Given the description of an element on the screen output the (x, y) to click on. 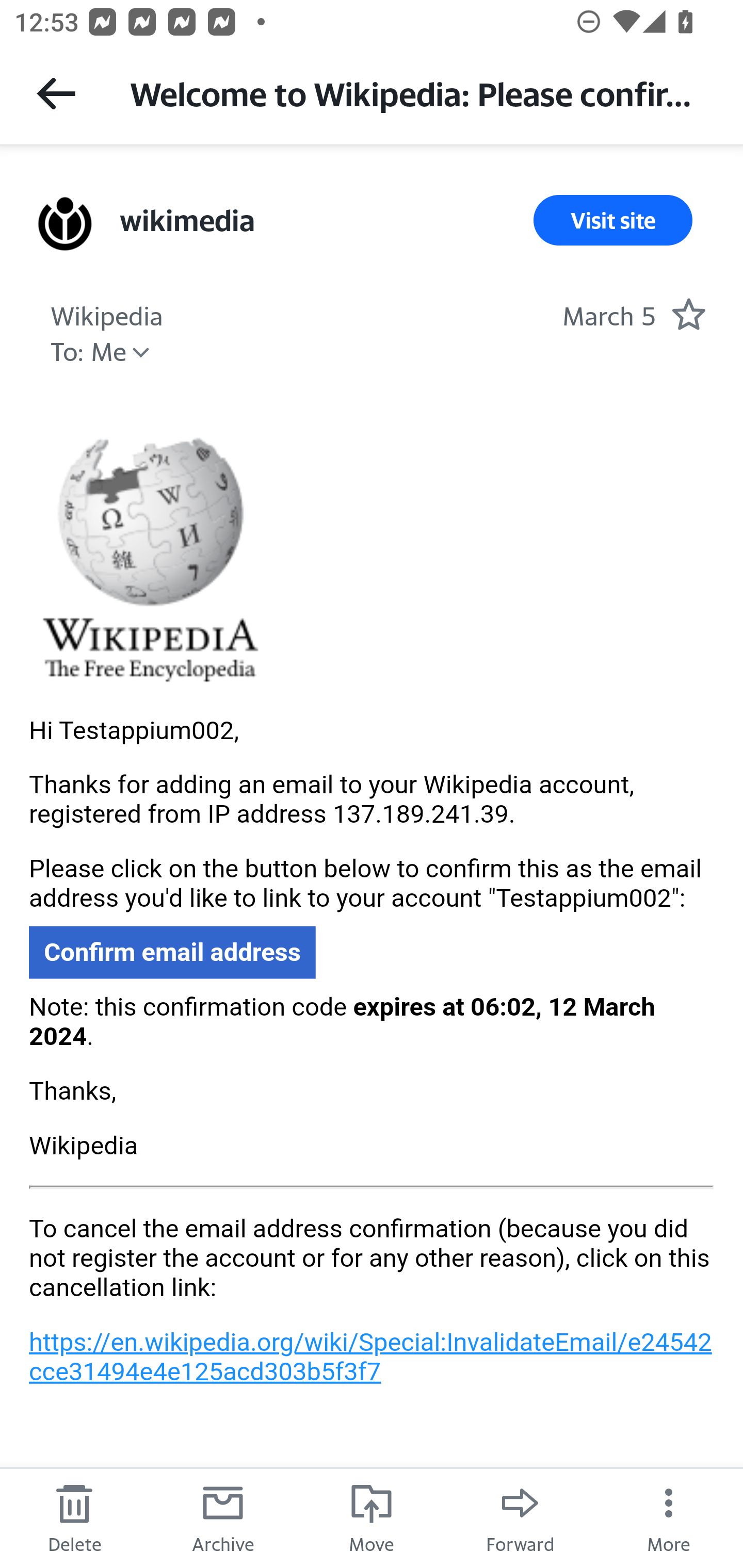
Back (55, 92)
View all messages from sender (64, 223)
Visit site Visit Site Link (612, 220)
wikimedia Sender wikimedia (186, 219)
Wikipedia Sender Wikipedia (106, 314)
Mark as starred. (688, 314)
Confirm email address (172, 952)
Delete (74, 1517)
Archive (222, 1517)
Move (371, 1517)
Forward (519, 1517)
More (668, 1517)
